Given the description of an element on the screen output the (x, y) to click on. 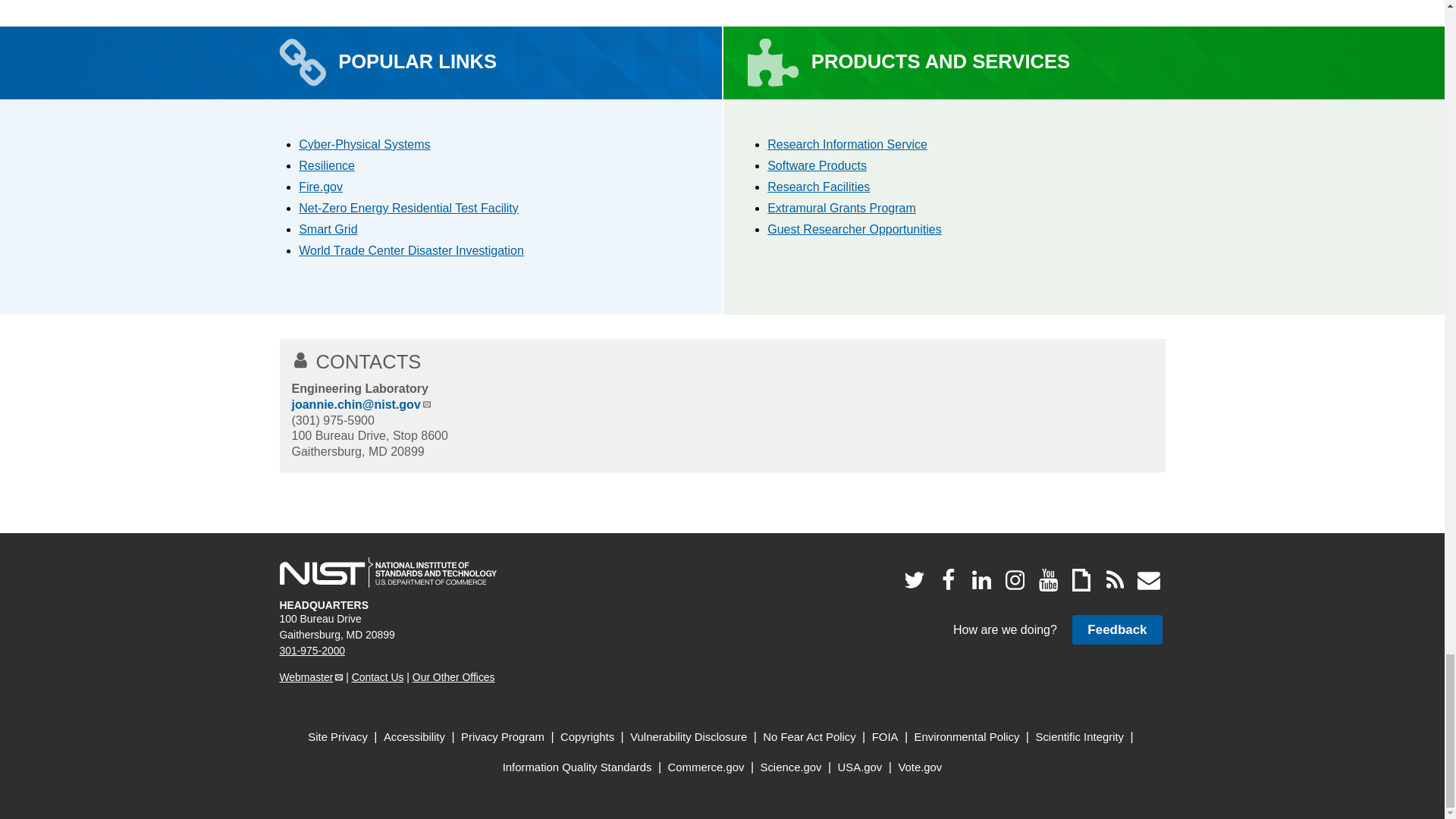
EL Extramural Grants (841, 207)
Provide feedback (1116, 629)
EL Research Information Service (847, 144)
Work With Us (853, 228)
World Trade Center Investigation (411, 250)
Resilience (326, 164)
Fire.Gov (320, 186)
National Institute of Standards and Technology (387, 572)
